Given the description of an element on the screen output the (x, y) to click on. 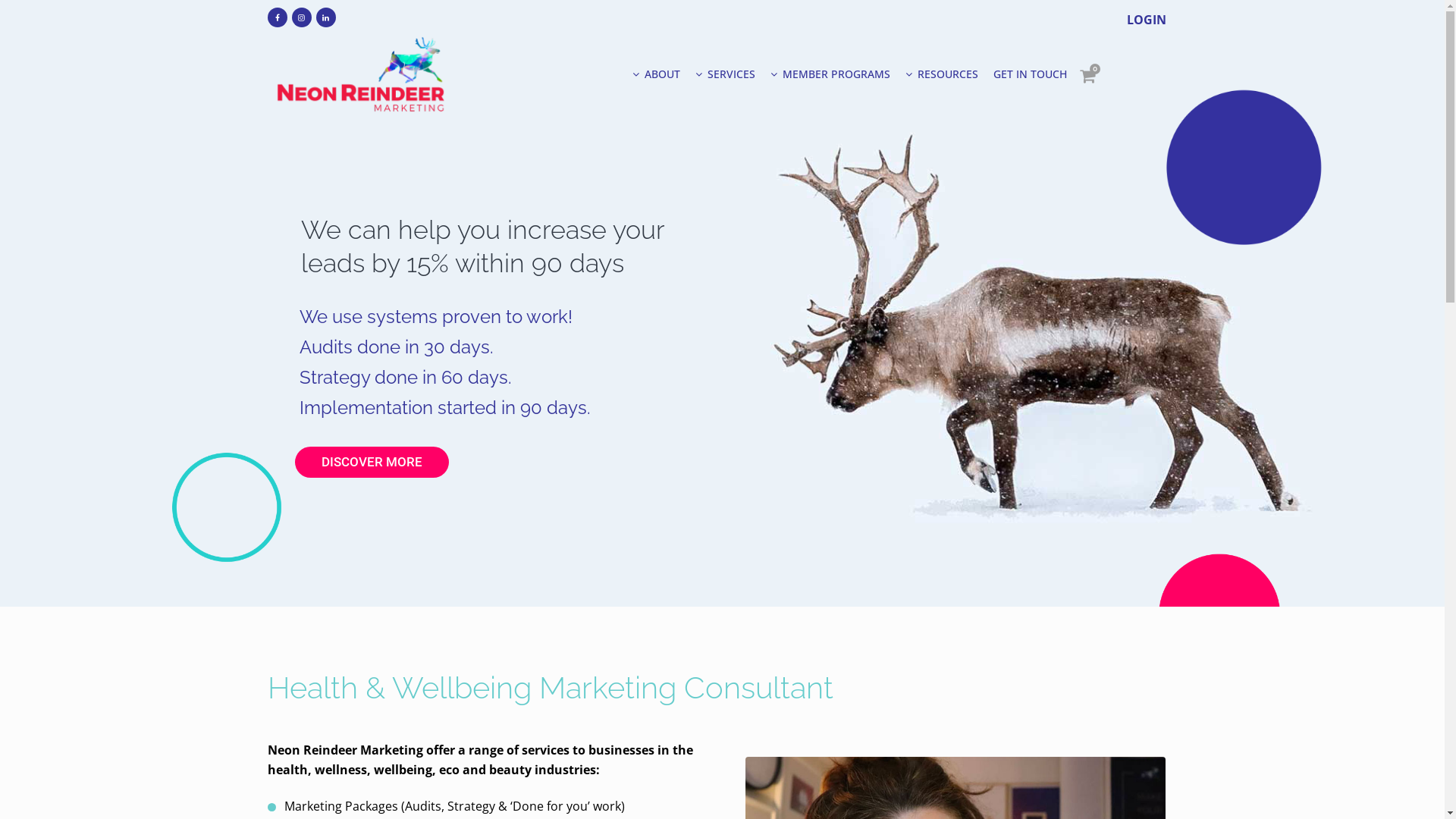
GET IN TOUCH Element type: text (1029, 74)
SERVICES Element type: text (724, 74)
MEMBER PROGRAMS Element type: text (829, 74)
RESOURCES Element type: text (941, 74)
0 Element type: text (1087, 75)
LOGIN Element type: text (1146, 19)
ABOUT Element type: text (655, 74)
